Given the description of an element on the screen output the (x, y) to click on. 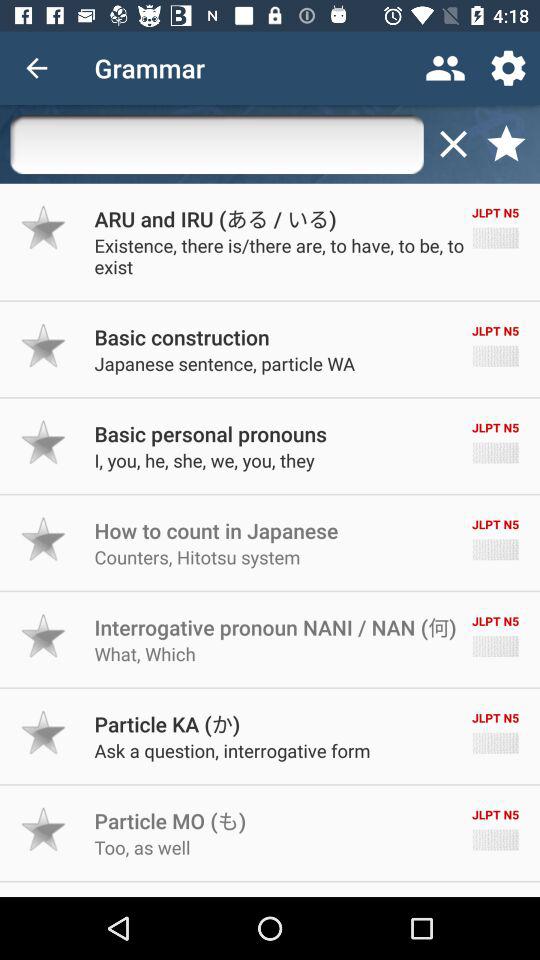
enter search criteria (216, 144)
